Given the description of an element on the screen output the (x, y) to click on. 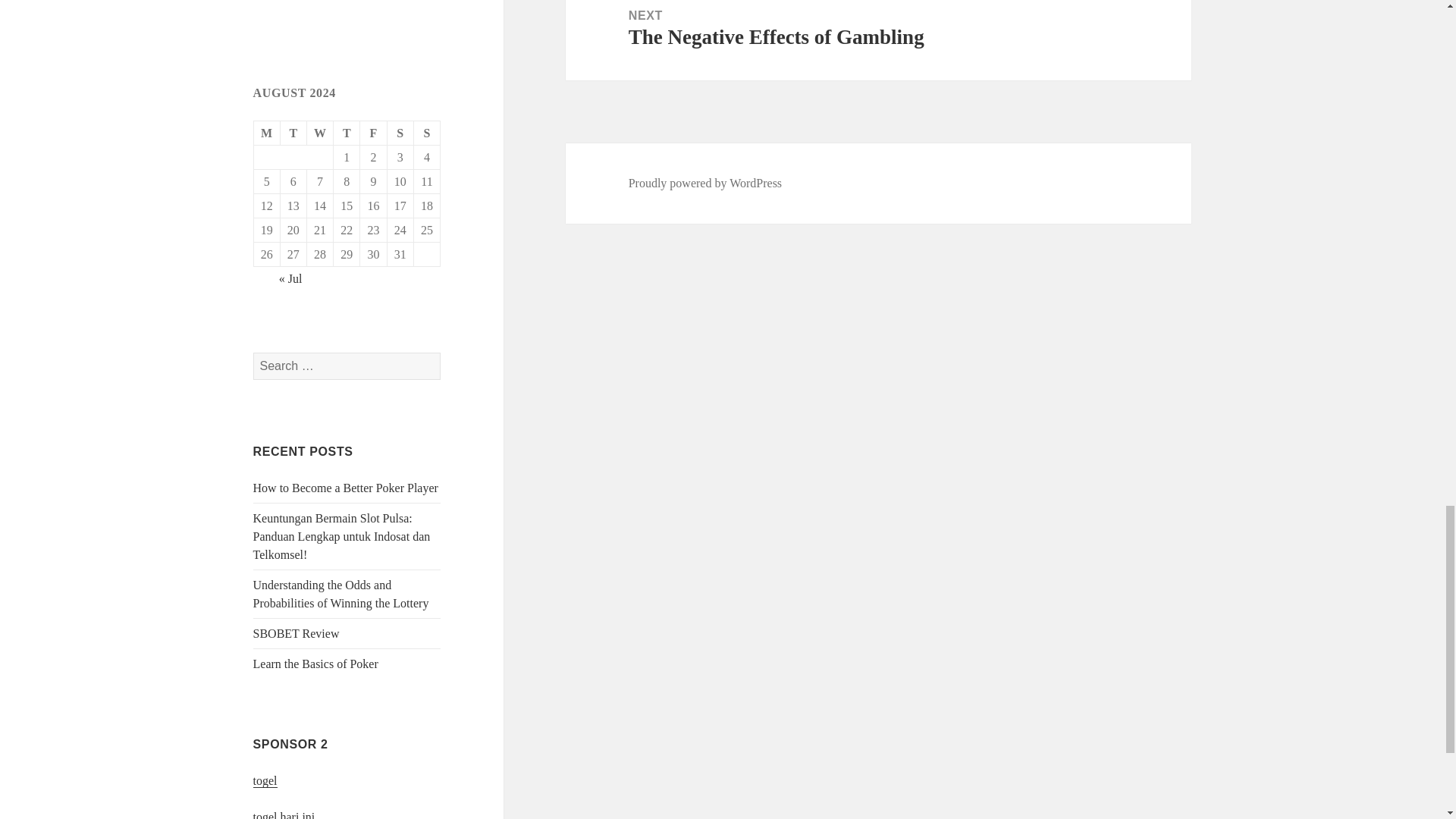
Tuesday (294, 133)
Thursday (346, 133)
Wednesday (320, 133)
Saturday (400, 133)
Monday (267, 133)
Friday (373, 133)
Sunday (427, 133)
